Given the description of an element on the screen output the (x, y) to click on. 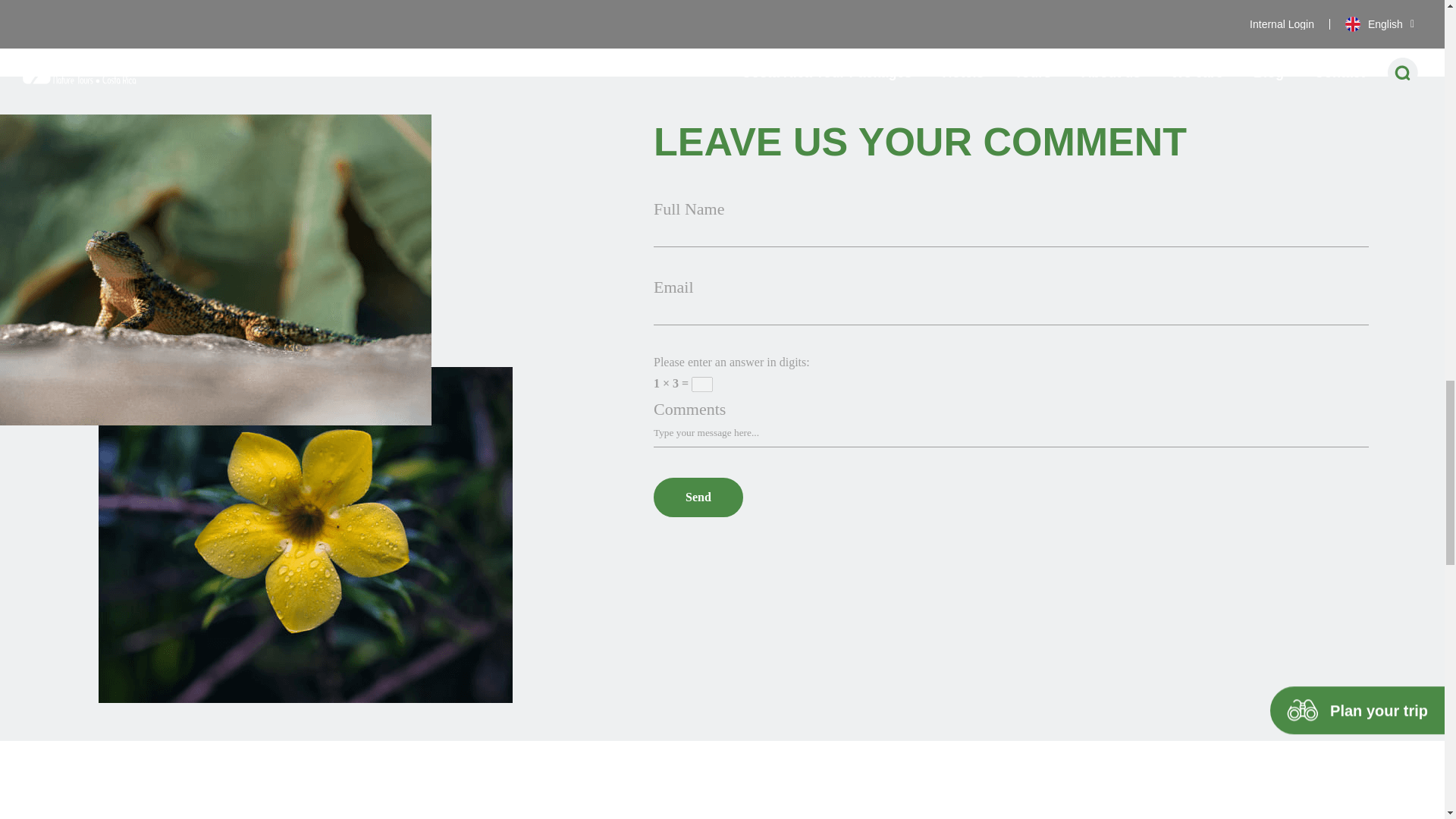
Send (697, 496)
Send (697, 496)
